Given the description of an element on the screen output the (x, y) to click on. 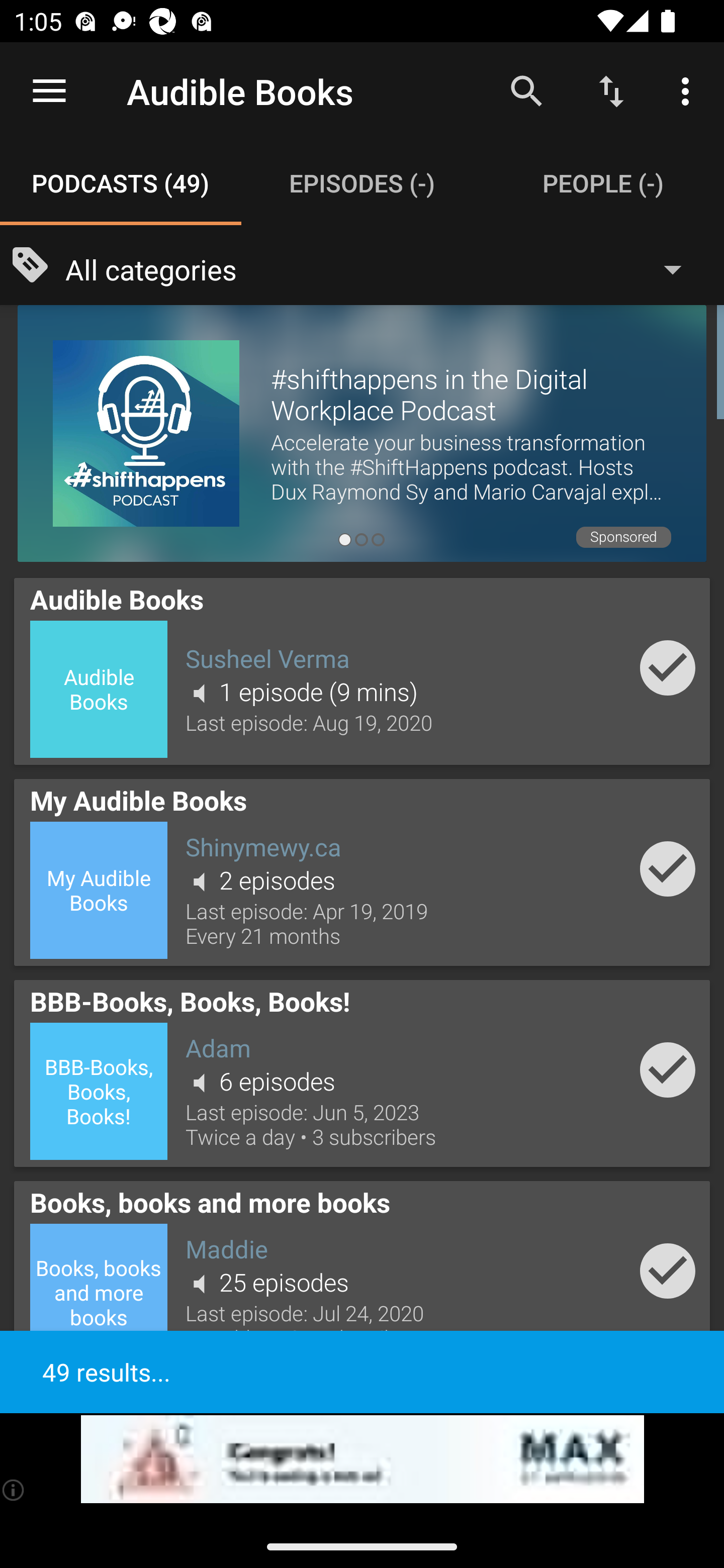
Open navigation sidebar (49, 91)
Search (526, 90)
Sort (611, 90)
More options (688, 90)
Episodes (-) EPISODES (-) (361, 183)
People (-) PEOPLE (-) (603, 183)
All categories (383, 268)
Add (667, 667)
Add (667, 868)
Add (667, 1069)
Add (667, 1271)
app-monetization (362, 1459)
(i) (14, 1489)
